Given the description of an element on the screen output the (x, y) to click on. 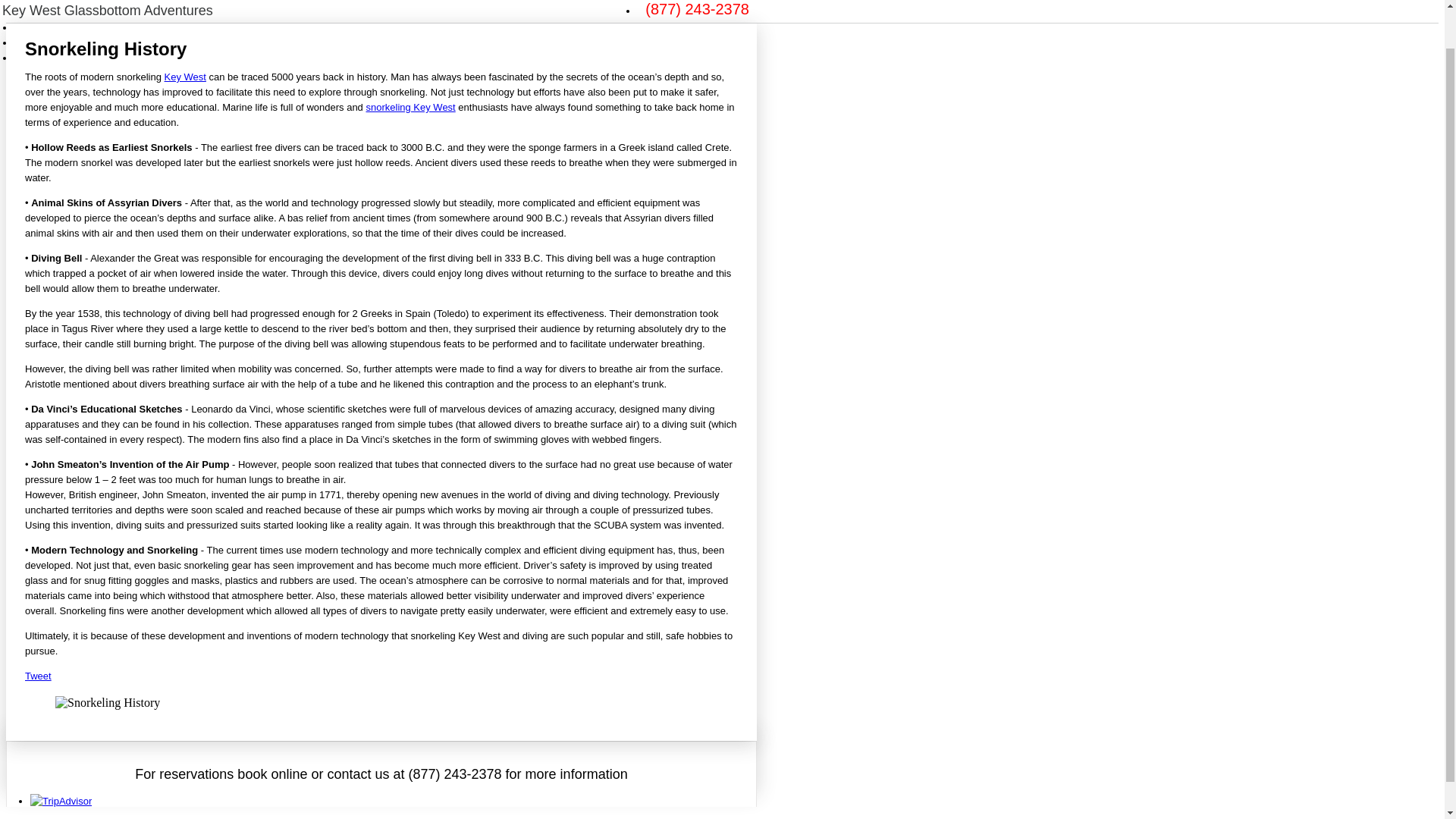
Ocean Vue Adventures Blog (590, 8)
Reef Fish (507, 8)
Key West Snorkeling (55, 41)
Key West (185, 76)
Our Coral Reef (590, 8)
Key West Snorkeling  (375, 8)
Ocean Vue Adventures (59, 27)
Our Tour (110, 12)
Snorkeling (307, 8)
snorkeling Key West (375, 8)
Key West Glass Bottom Boat Tour - The Ocean Vue Adventure (409, 107)
Key West Coral Reef Fish Species (307, 8)
Dolphins (507, 8)
Key West Dolphins (443, 8)
